Given the description of an element on the screen output the (x, y) to click on. 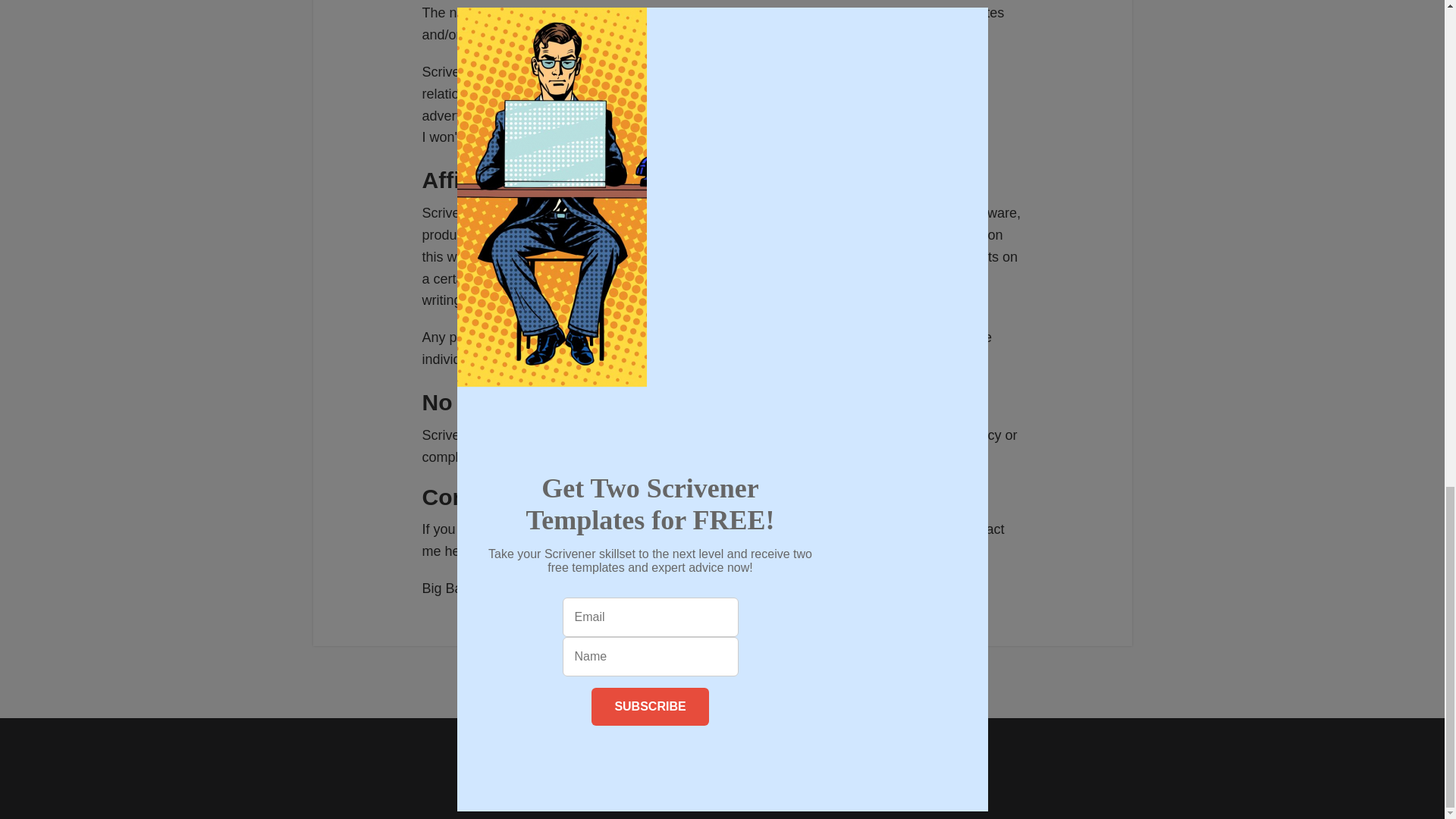
Blog (608, 766)
Disclaimer (655, 766)
Disclaimer (655, 766)
Contact (828, 766)
Privacy Policy (725, 766)
About (784, 766)
Blog (608, 766)
Privacy Policy (725, 766)
